Given the description of an element on the screen output the (x, y) to click on. 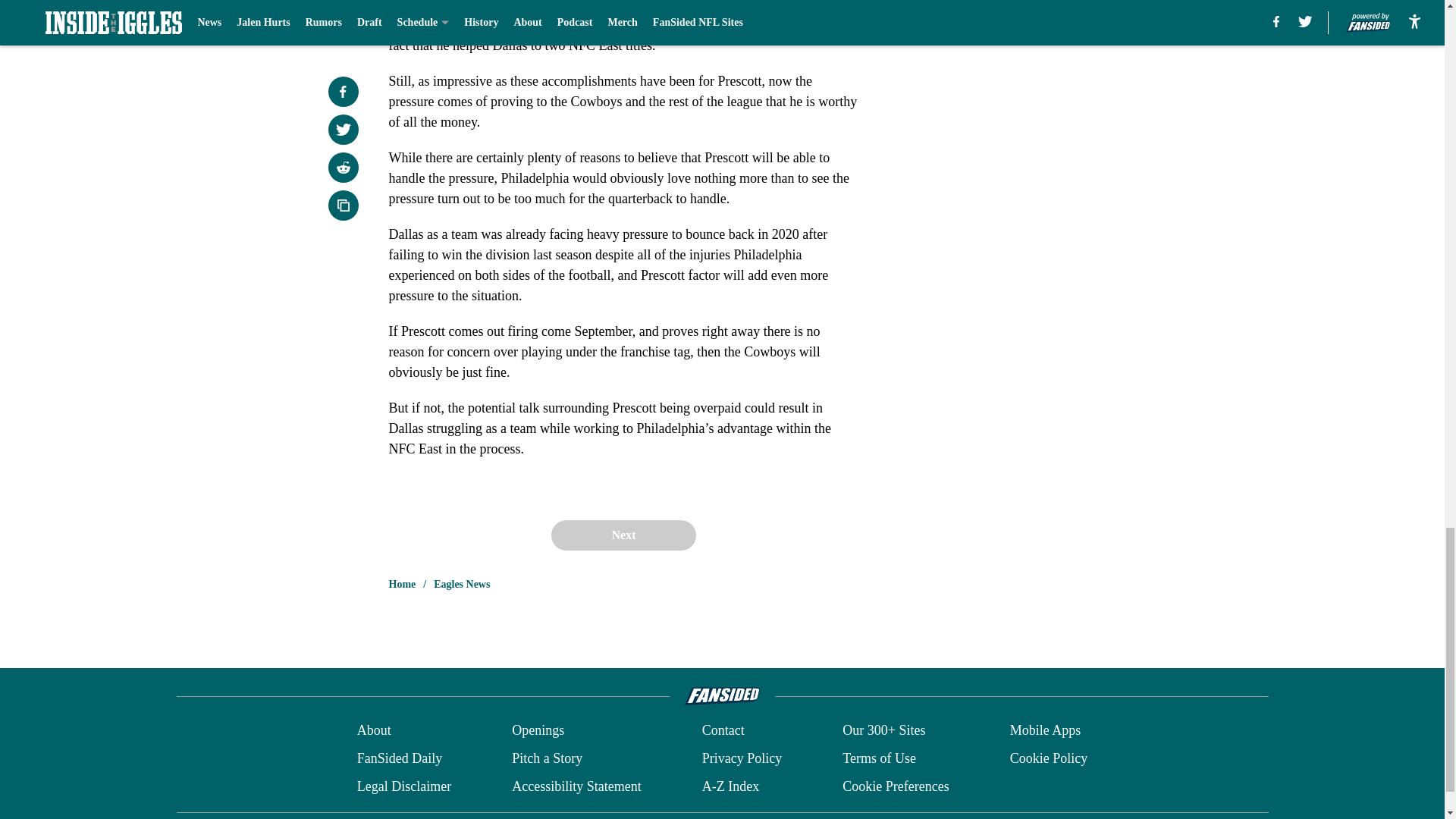
Contact (722, 730)
Legal Disclaimer (403, 786)
Mobile Apps (1045, 730)
FanSided Daily (399, 758)
Next (622, 535)
Privacy Policy (742, 758)
Eagles News (461, 584)
Cookie Policy (1048, 758)
Openings (538, 730)
Pitch a Story (547, 758)
